Given the description of an element on the screen output the (x, y) to click on. 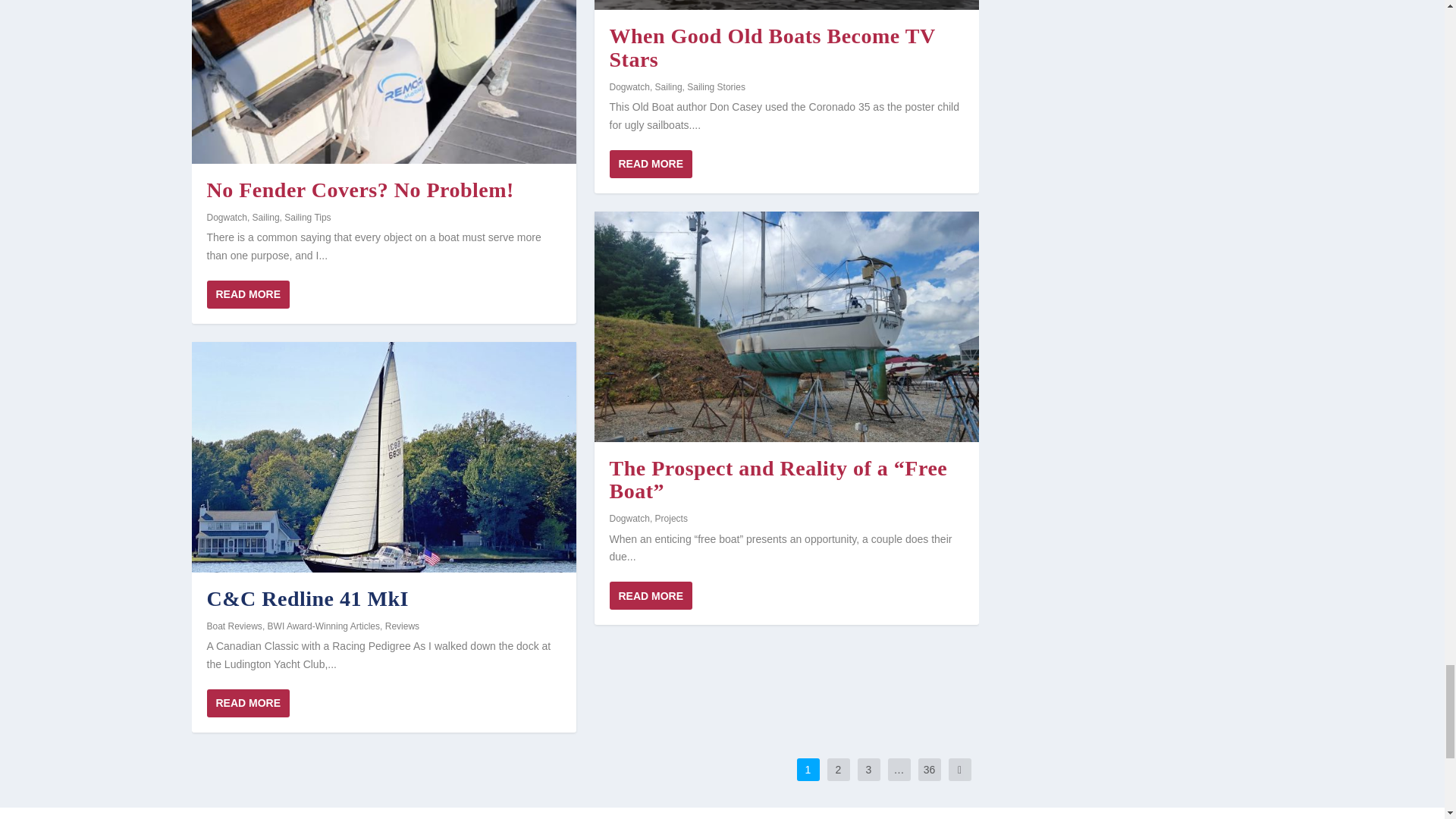
No Fender Covers? No Problem! (382, 81)
